Given the description of an element on the screen output the (x, y) to click on. 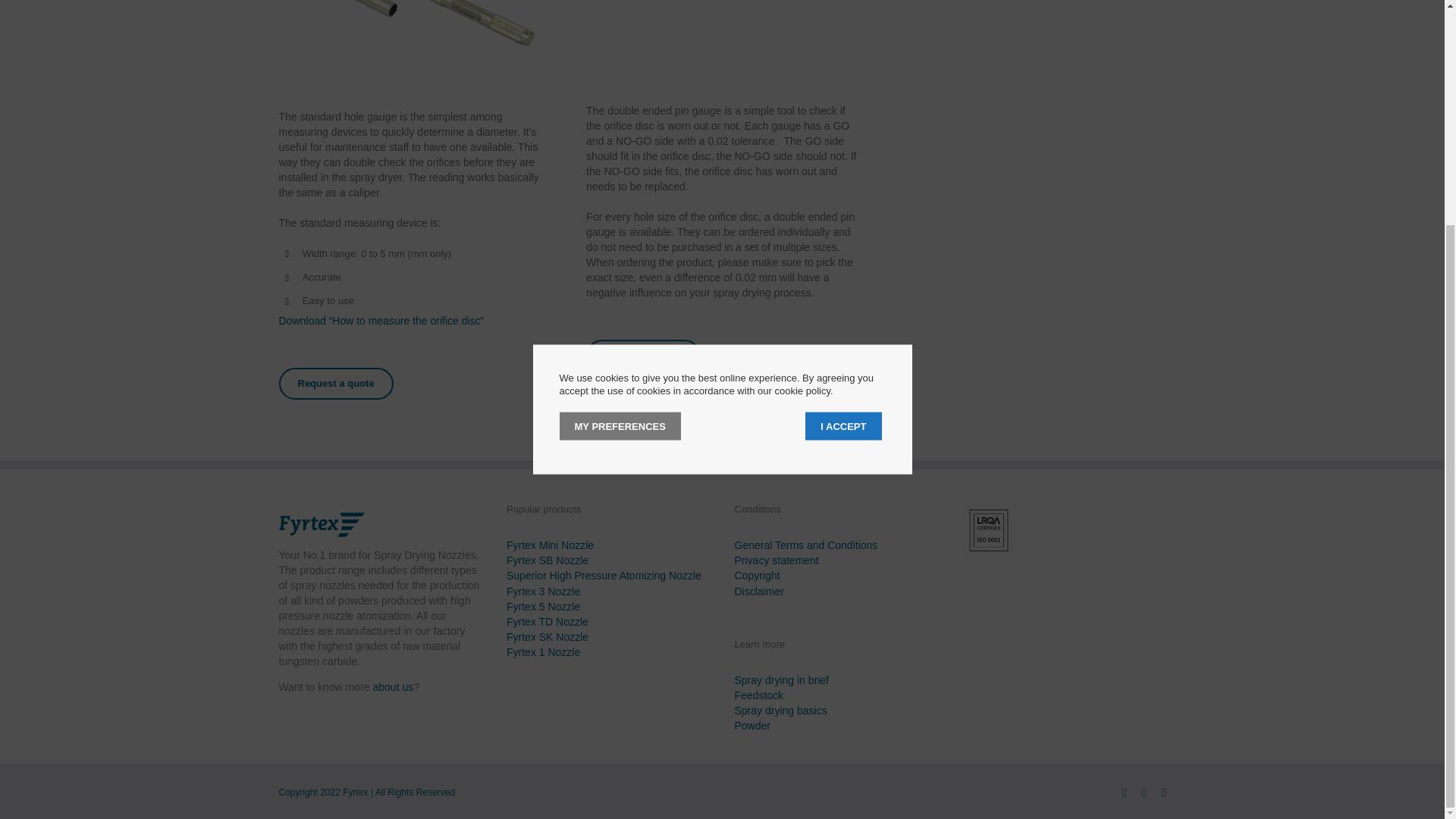
Double-ended-pin-gauge-fyrtex-spray-dry-nozzels (662, 23)
